Given the description of an element on the screen output the (x, y) to click on. 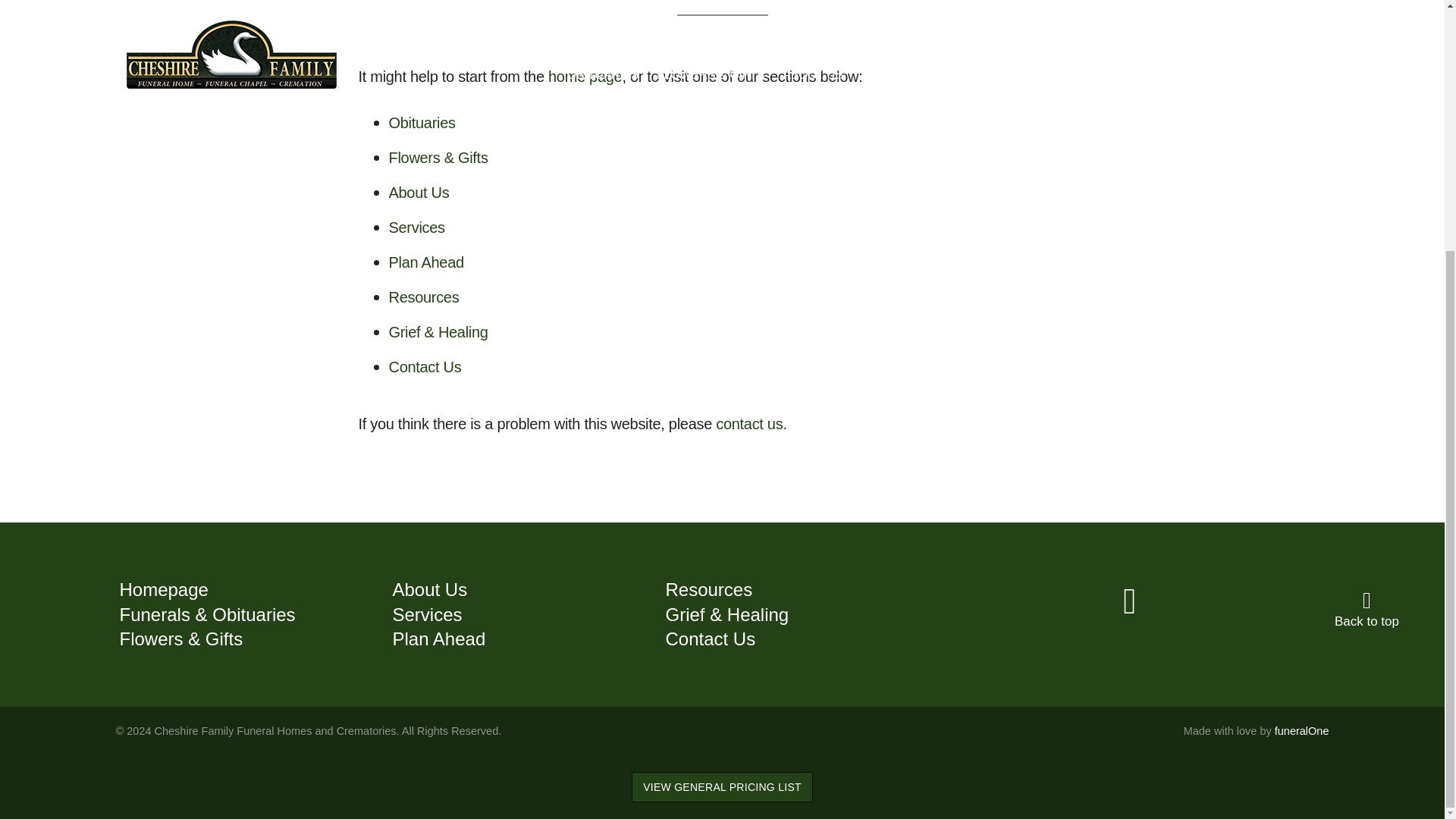
contact us (749, 423)
Contact Us (424, 366)
Homepage (163, 589)
Resources (423, 297)
About Us (418, 192)
Plan Ahead (425, 262)
Obituaries (421, 122)
Services (426, 614)
home page (584, 76)
About Us (429, 589)
Services (416, 227)
